Given the description of an element on the screen output the (x, y) to click on. 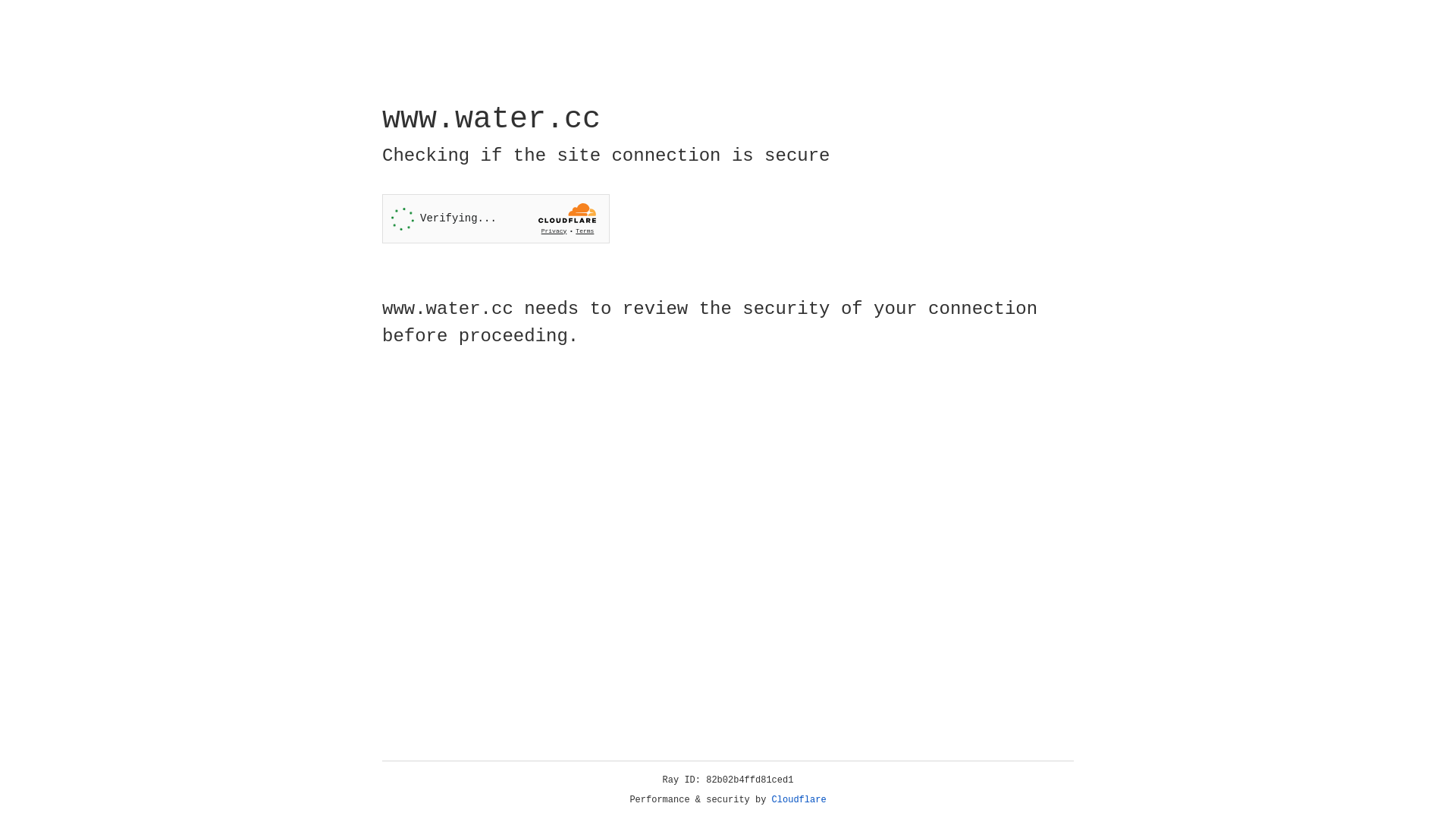
Cloudflare Element type: text (798, 799)
Widget containing a Cloudflare security challenge Element type: hover (495, 218)
